Given the description of an element on the screen output the (x, y) to click on. 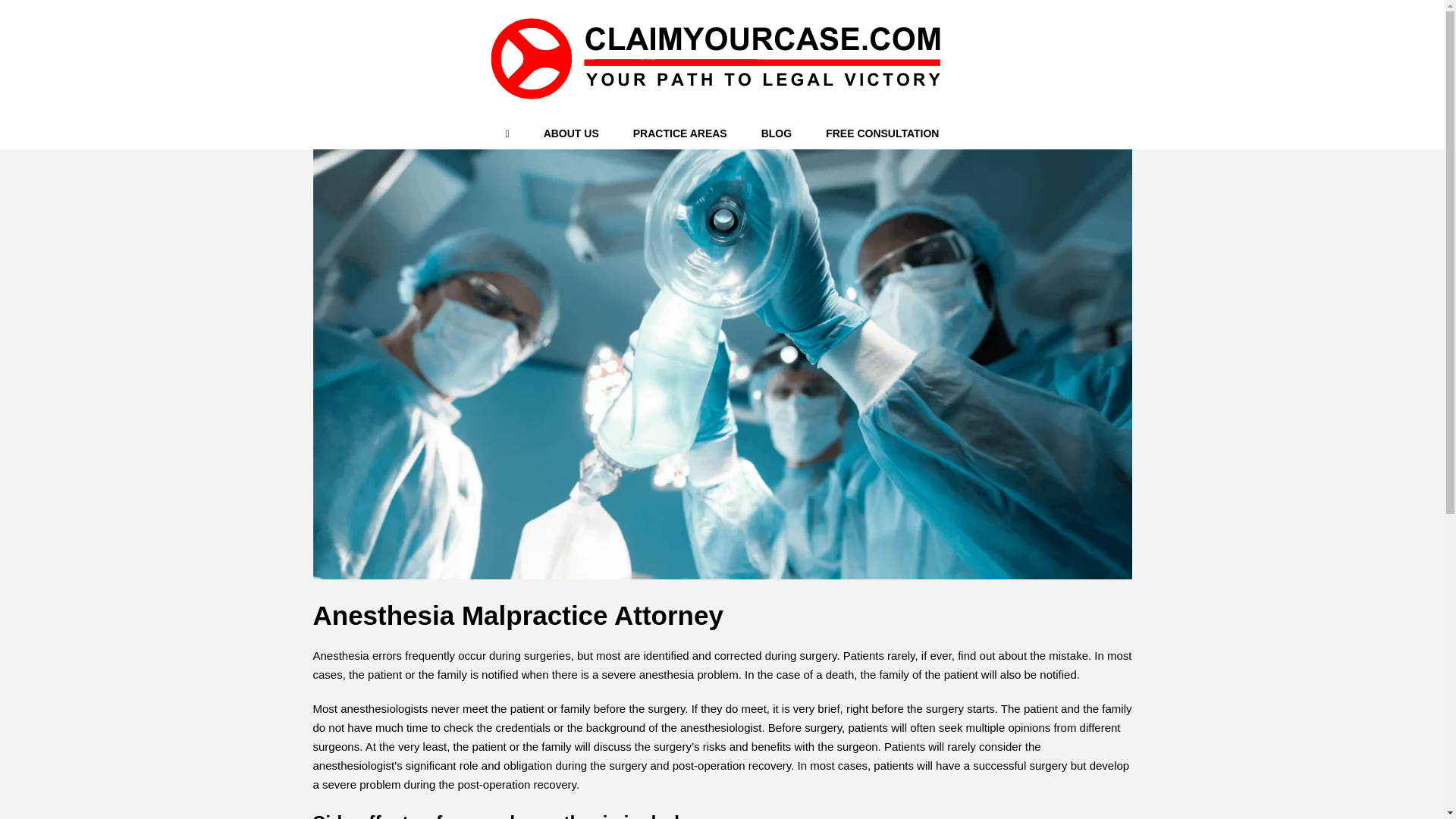
BLOG (776, 132)
FREE CONSULTATION (882, 132)
PRACTICE AREAS (679, 132)
Attorneys For All Blog  (776, 132)
ABOUT US (570, 132)
Legal Practice Areas (679, 132)
About Attorneys For All (570, 132)
Free Consultation  (882, 132)
